Given the description of an element on the screen output the (x, y) to click on. 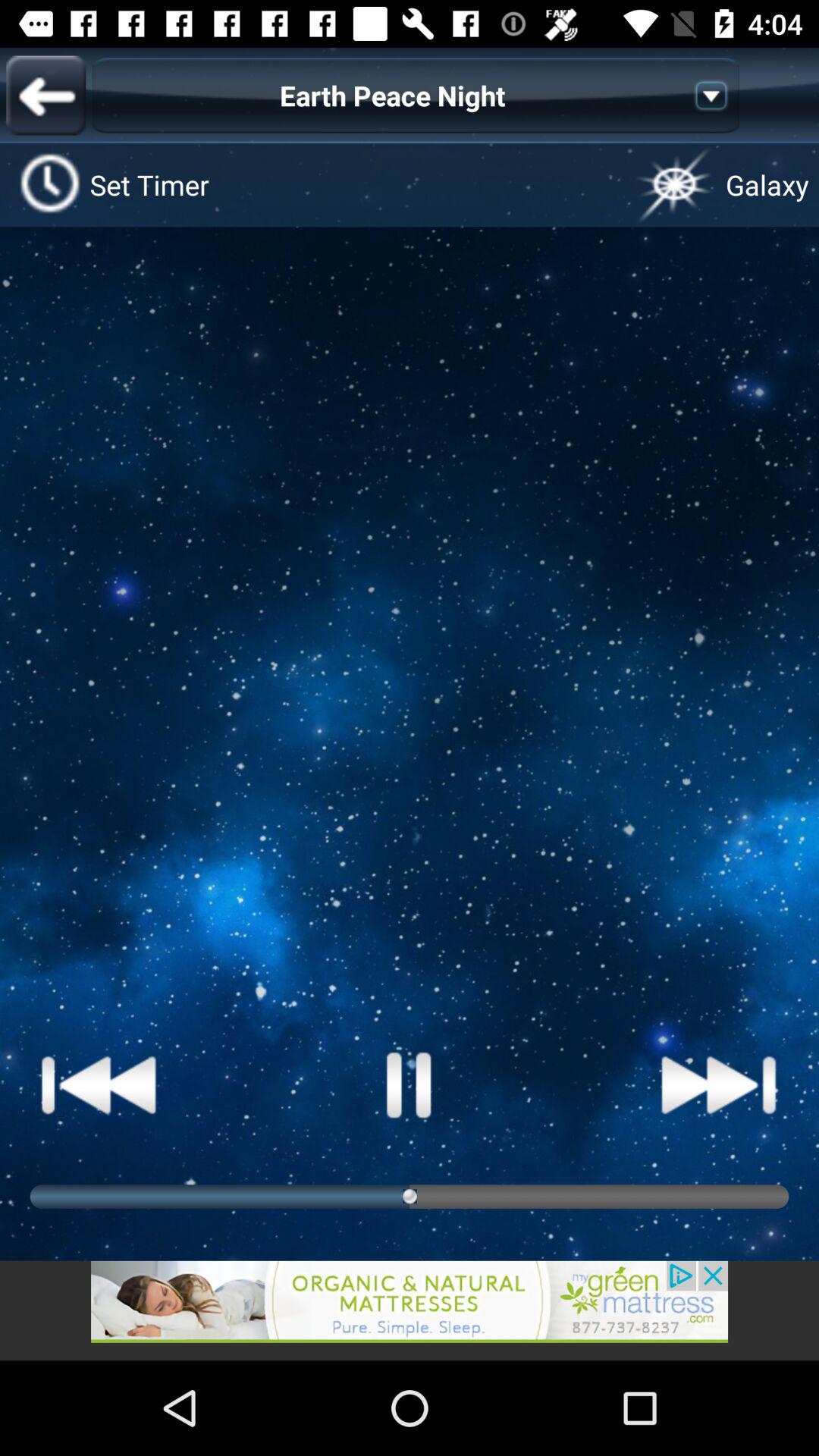
go to rite pega (99, 1084)
